Given the description of an element on the screen output the (x, y) to click on. 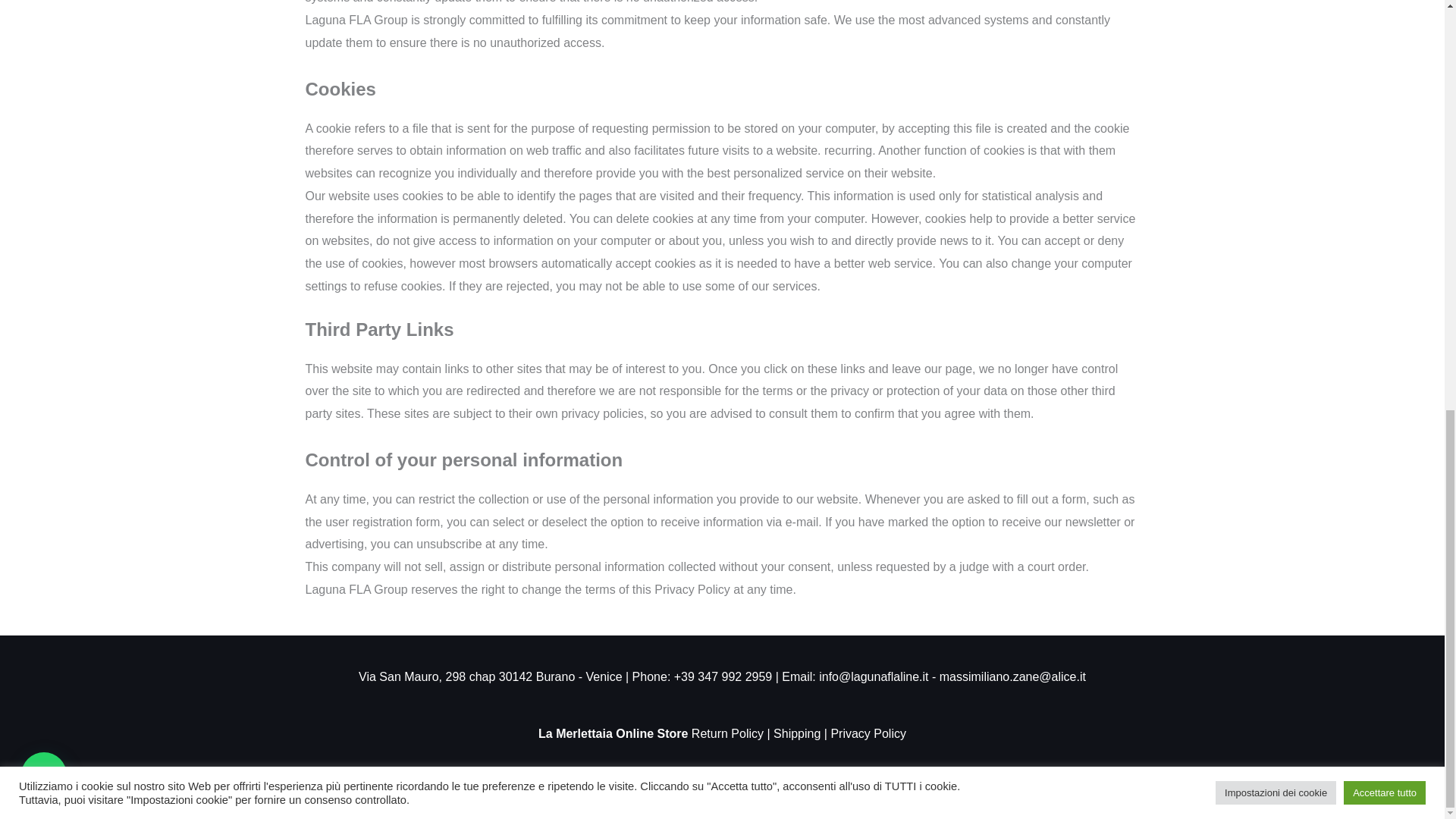
Shipping (795, 733)
Privacy Policy (867, 733)
Privacy Policy (646, 776)
POC Wind Region (548, 776)
Return Policy (726, 733)
Cookie Policy (730, 776)
Via San Mauro, 298 chap 30142 Burano - Venice (490, 676)
